Given the description of an element on the screen output the (x, y) to click on. 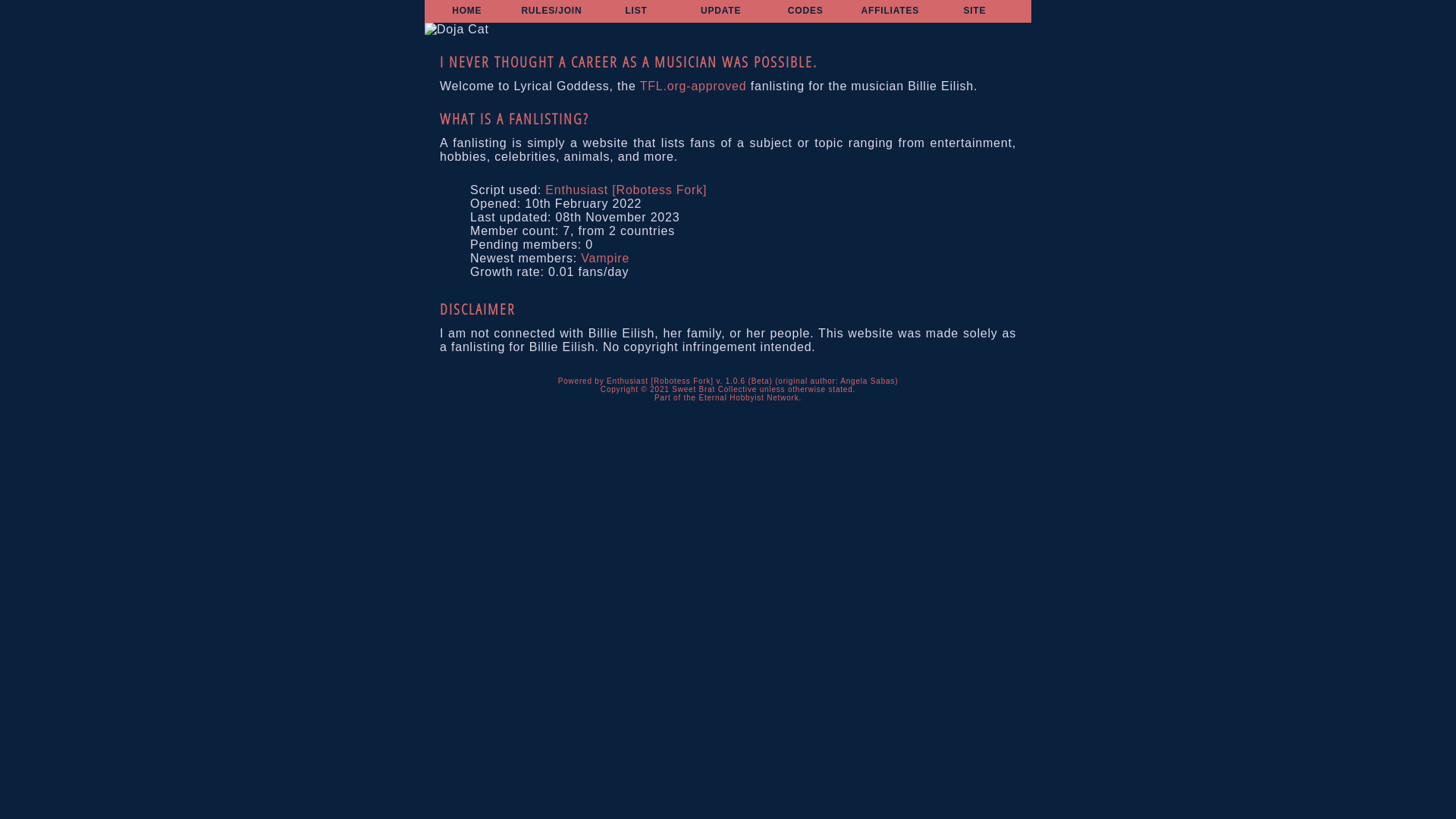
Sweet Brat Collective Element type: text (713, 389)
TFL.org-approved Element type: text (693, 85)
SITE Element type: text (974, 10)
Eternal Hobbyist Network Element type: text (748, 397)
HOME Element type: text (466, 10)
UPDATE Element type: text (720, 10)
RULES/JOIN Element type: text (550, 10)
AFFILIATES Element type: text (890, 10)
LIST Element type: text (635, 10)
Vampire Element type: text (604, 257)
CODES Element type: text (805, 10)
Enthusiast [Robotess Fork] Element type: text (625, 189)
Enthusiast [Robotess Fork] v. 1.0.6 (Beta) Element type: text (689, 380)
Angela Sabas Element type: text (867, 380)
